Given the description of an element on the screen output the (x, y) to click on. 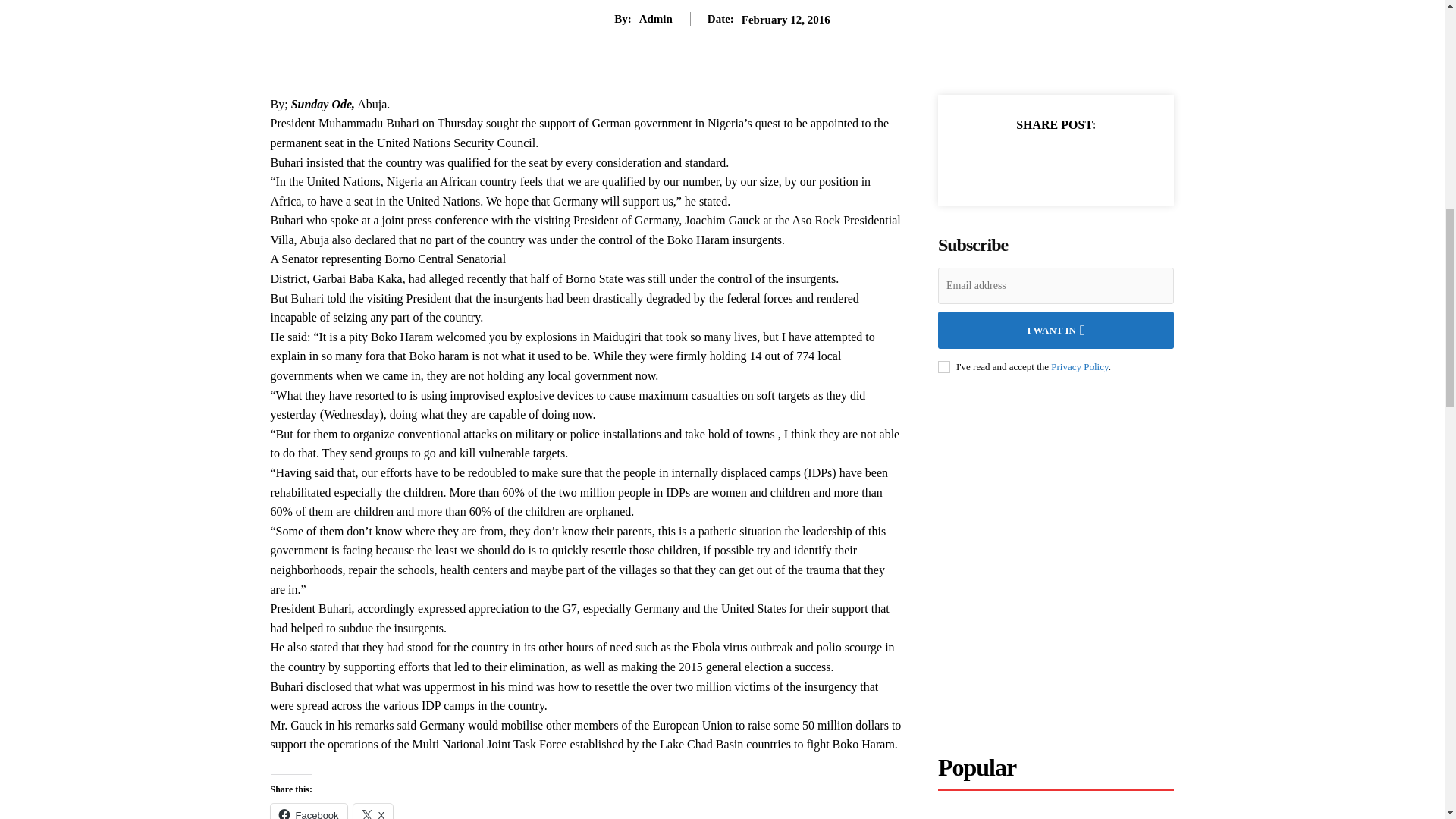
Admin (655, 18)
Click to share on X (373, 811)
X (373, 811)
Facebook (307, 811)
Click to share on Facebook (307, 811)
